Given the description of an element on the screen output the (x, y) to click on. 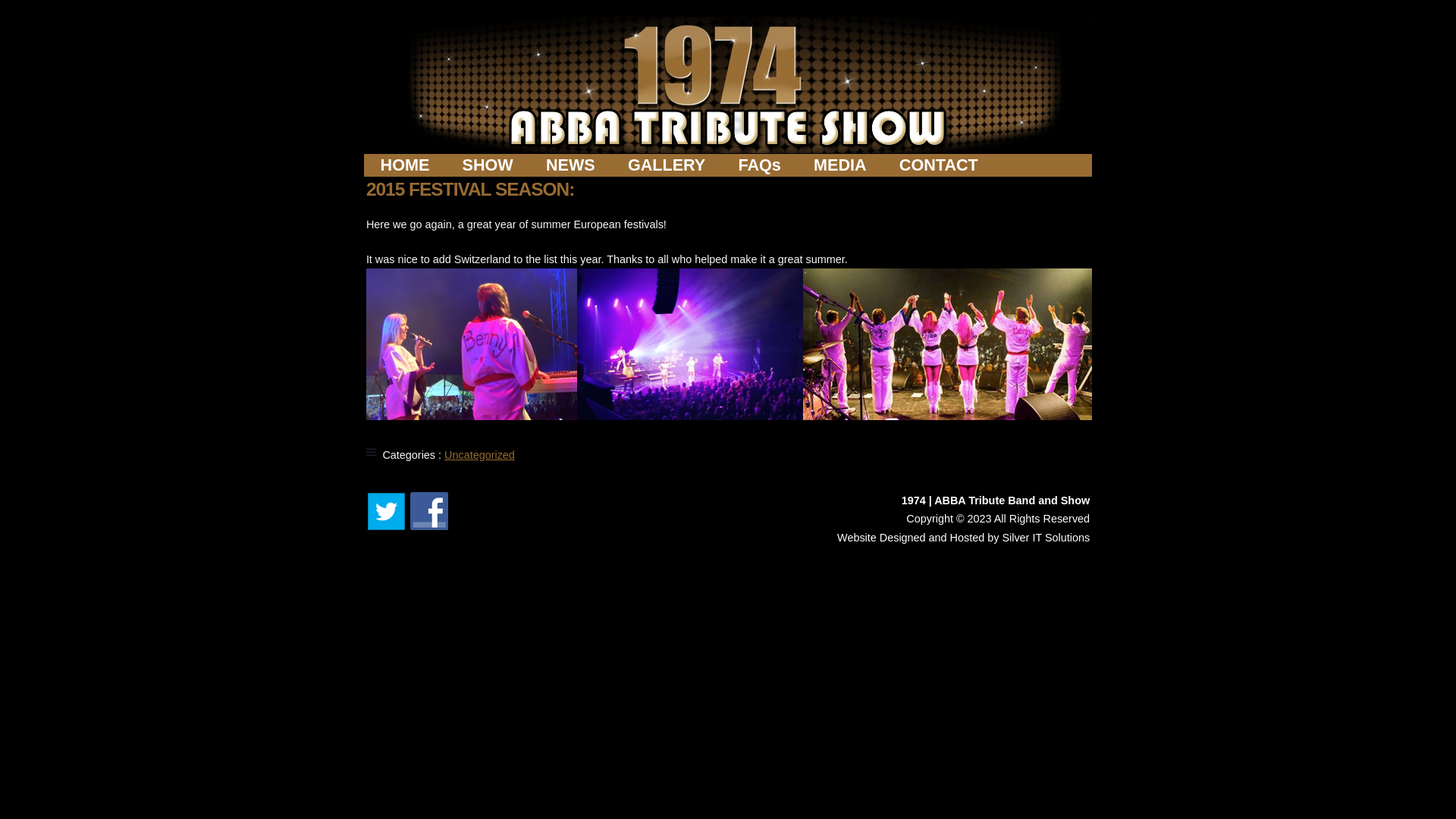
SHOW Element type: text (487, 164)
FAQs Element type: text (759, 164)
MEDIA Element type: text (839, 164)
CONTACT Element type: text (938, 164)
Uncategorized Element type: text (479, 454)
HOME Element type: text (404, 164)
NEWS Element type: text (570, 164)
GALLERY Element type: text (666, 164)
Silver IT Solutions Element type: text (1045, 537)
